Given the description of an element on the screen output the (x, y) to click on. 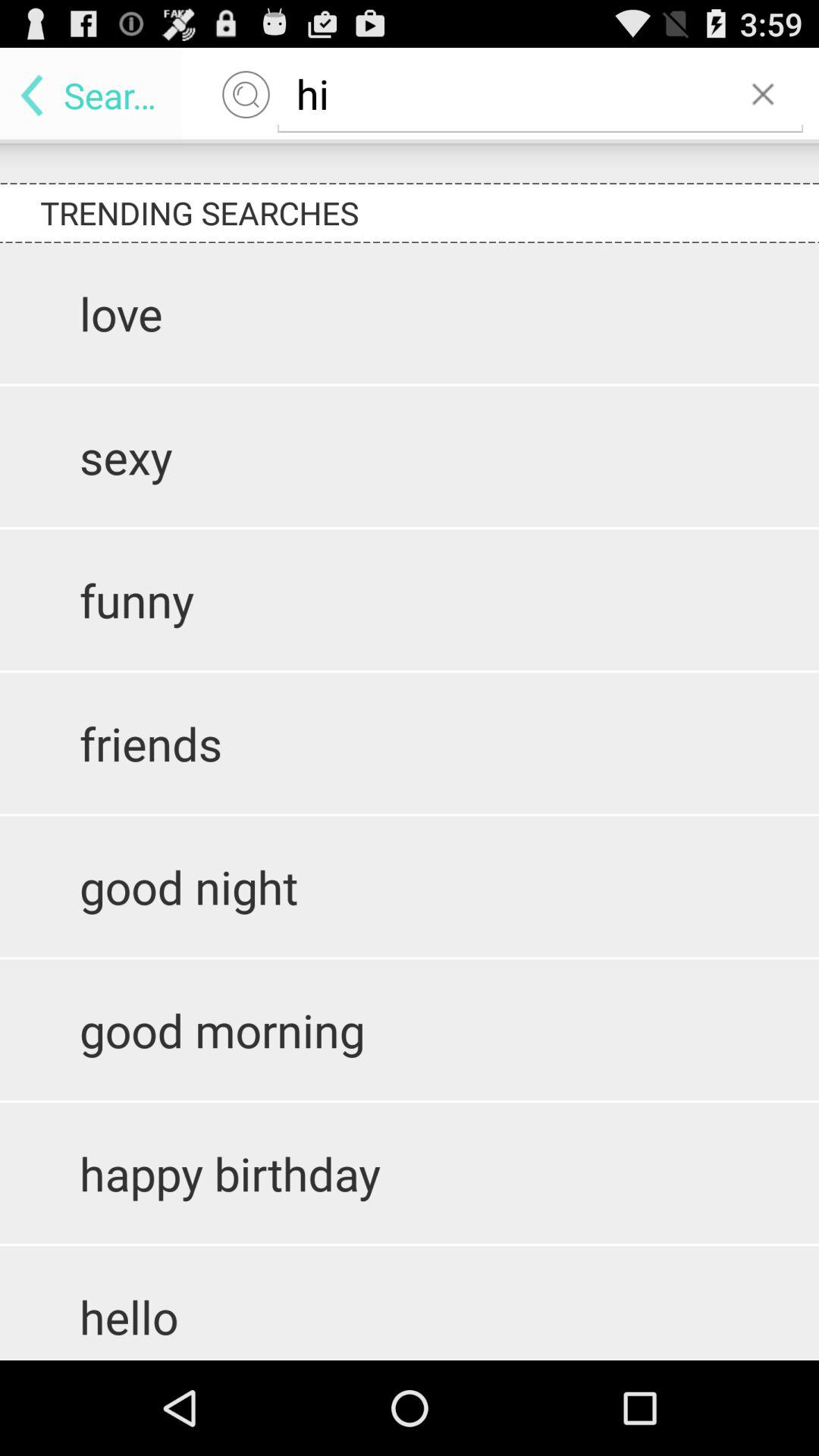
select the 1st text (675, 307)
